Given the description of an element on the screen output the (x, y) to click on. 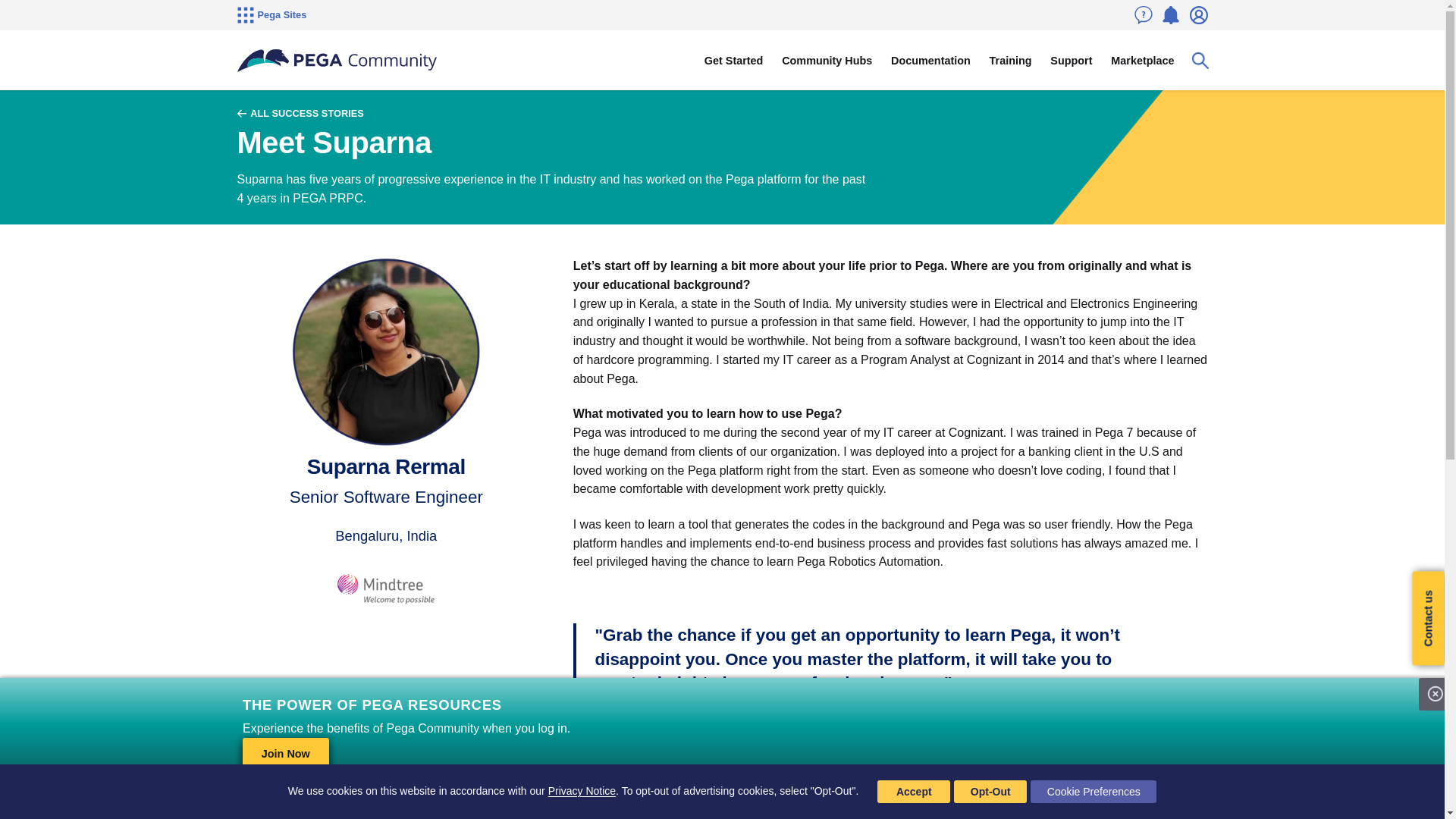
Toggle Search Panel (1200, 60)
Get Started (732, 60)
Community Hubs (827, 60)
